Given the description of an element on the screen output the (x, y) to click on. 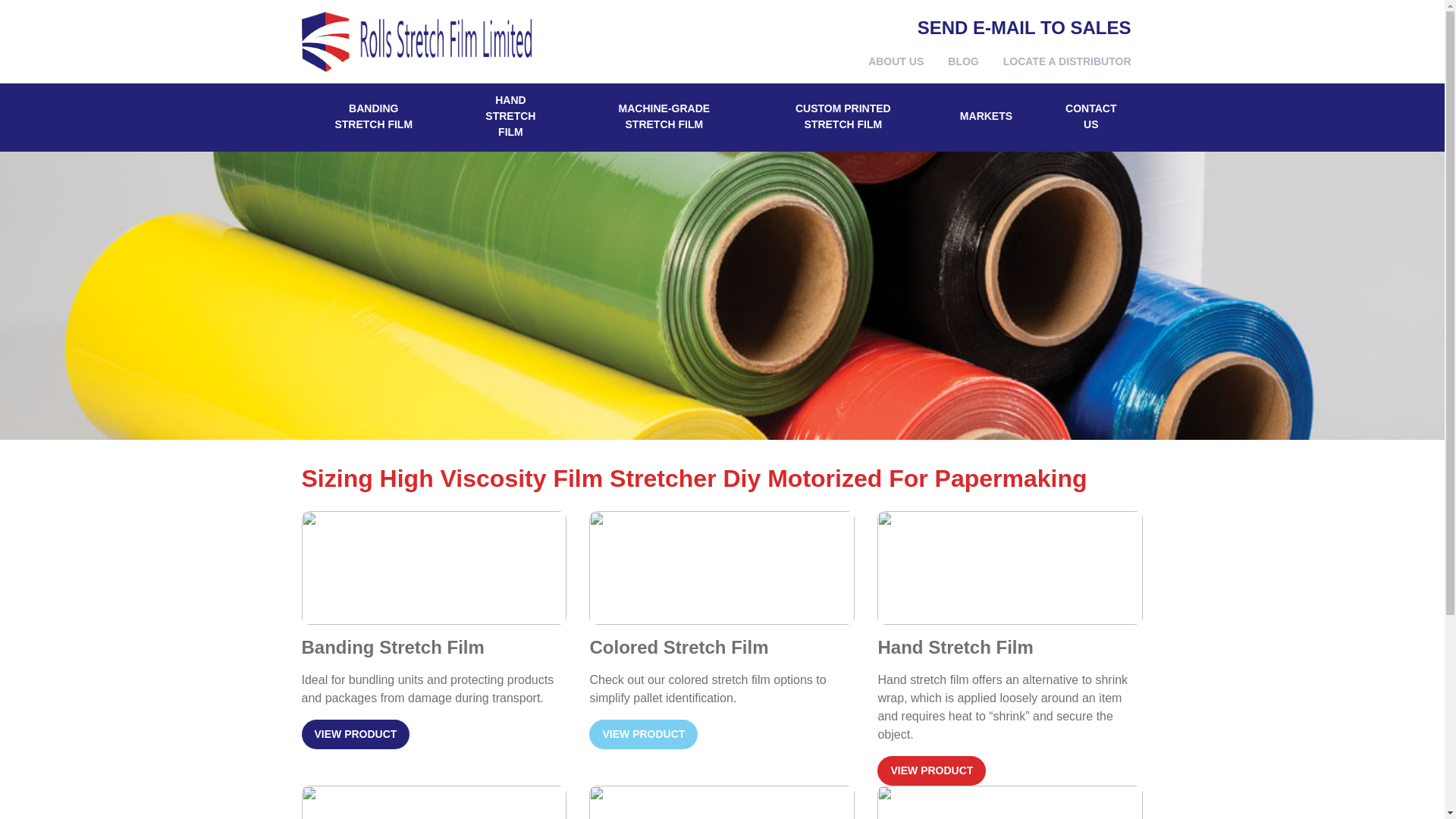
About Us (896, 60)
Locate a Distributor (1066, 60)
VIEW PRODUCT (931, 770)
BLOG (963, 60)
MARKETS (986, 117)
SEND E-MAIL TO SALES (1024, 26)
BANDING STRETCH FILM (373, 116)
Hand Stretch Film (510, 117)
LOCATE A DISTRIBUTOR (1066, 60)
Blog (963, 60)
VIEW PRODUCT (643, 734)
HAND STRETCH FILM (510, 117)
Banding Stretch Film (373, 116)
Contact Us (1090, 116)
ABOUT US (896, 60)
